Given the description of an element on the screen output the (x, y) to click on. 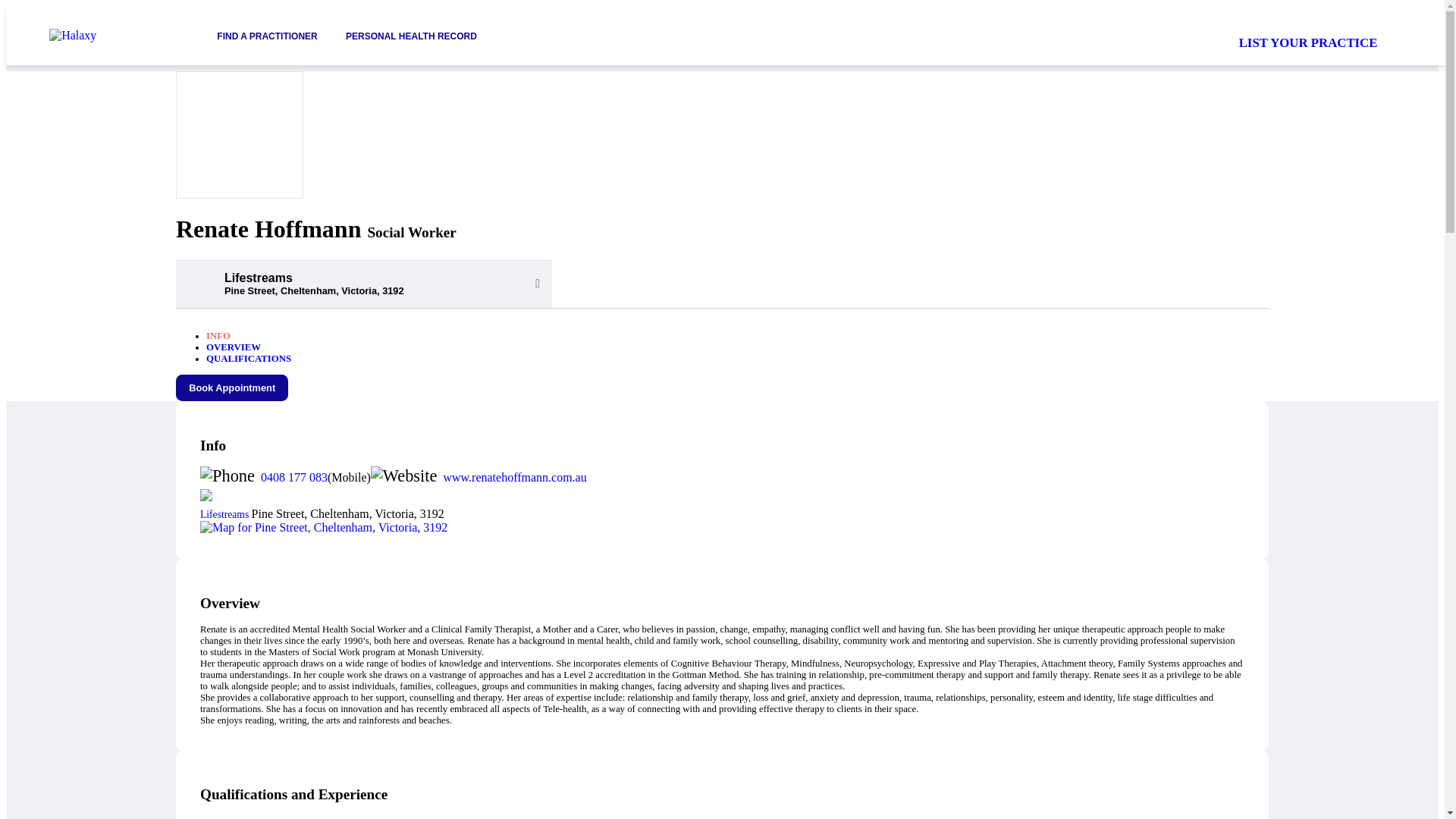
Link to clinic on Google maps (722, 527)
See Lifestreams profile (225, 514)
Lifestreams (225, 514)
Go to the clinic's website (514, 477)
PERSONAL HEALTH RECORD (410, 35)
Halaxy - Helping you navigate the galaxy of health (112, 35)
INFO (218, 335)
0408 177 083 (293, 477)
OVERVIEW (233, 347)
LIST YOUR PRACTICE (1308, 42)
FIND A PRACTITIONER (266, 35)
QUALIFICATIONS (248, 357)
Book Appointment (232, 387)
www.renatehoffmann.com.au (514, 477)
